Given the description of an element on the screen output the (x, y) to click on. 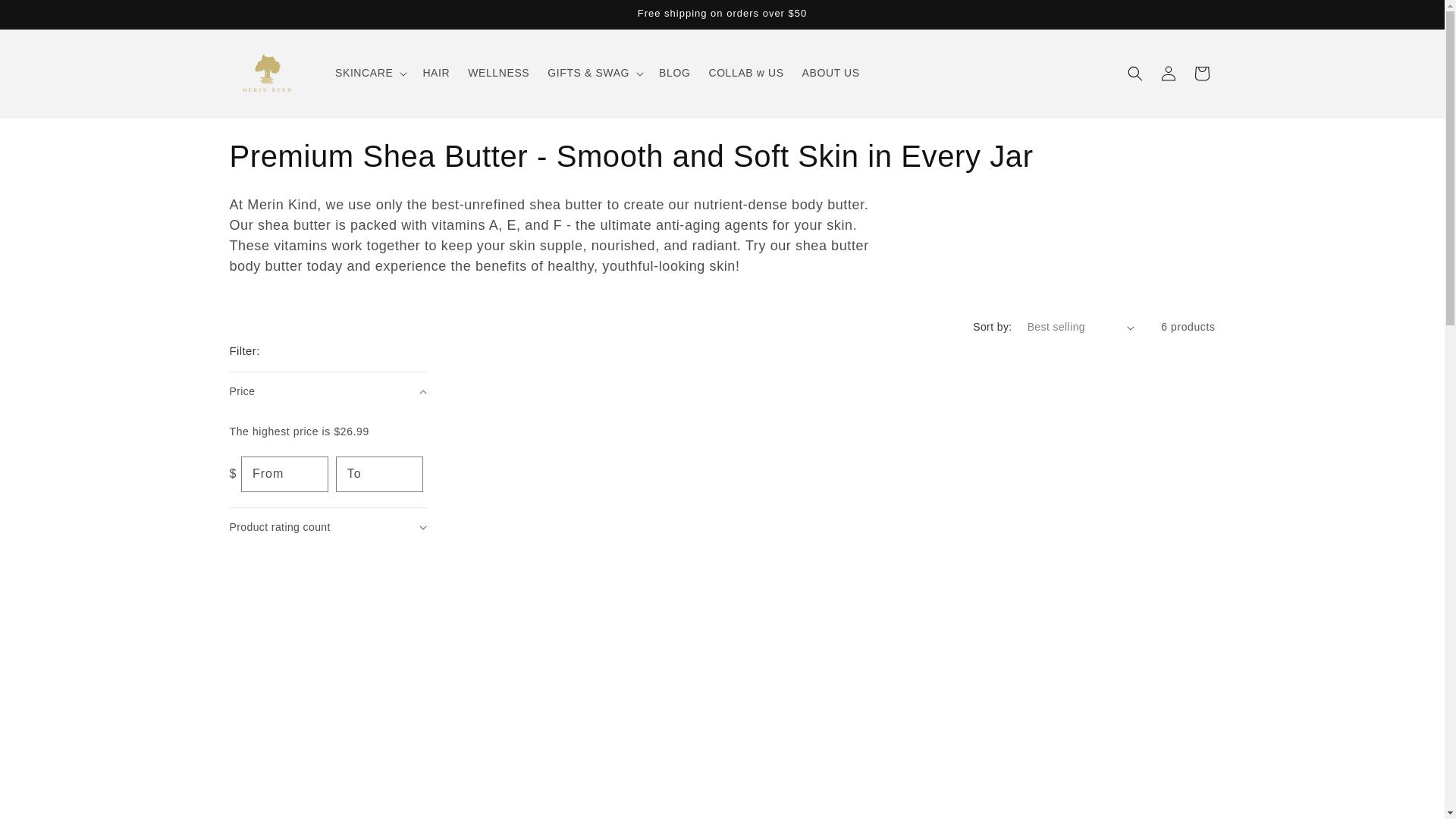
Log in (1168, 72)
ABOUT US (831, 72)
COLLAB w US (745, 72)
HAIR (435, 72)
BLOG (673, 72)
Skip to content (45, 17)
WELLNESS (498, 72)
Cart (1201, 72)
